Given the description of an element on the screen output the (x, y) to click on. 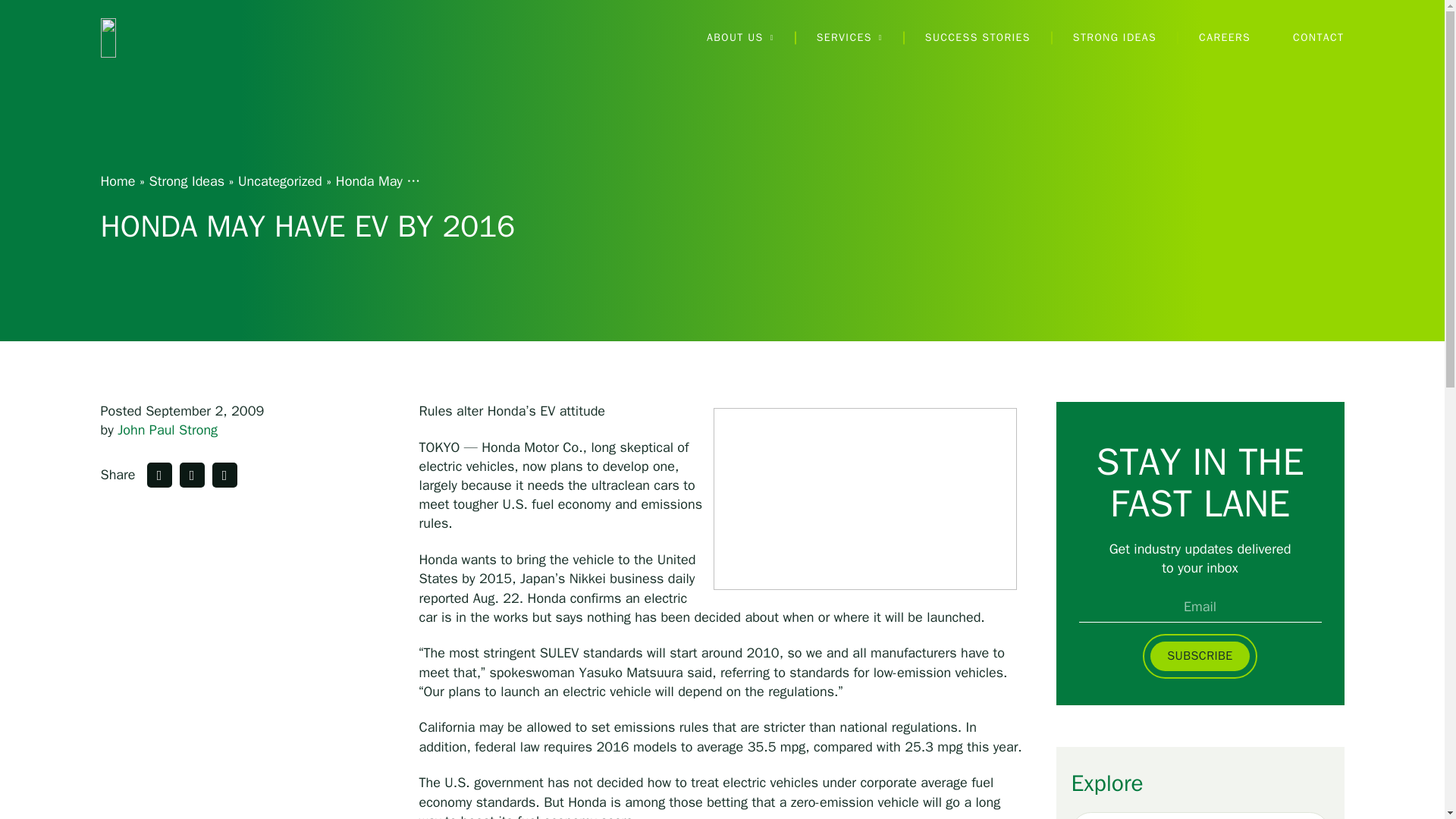
ABOUT US (740, 37)
SUCCESS STORIES (977, 37)
SERVICES (850, 37)
CONTACT (1318, 37)
CAREERS (1224, 37)
STRONG IDEAS (1115, 37)
Strong Automotive (178, 37)
